Given the description of an element on the screen output the (x, y) to click on. 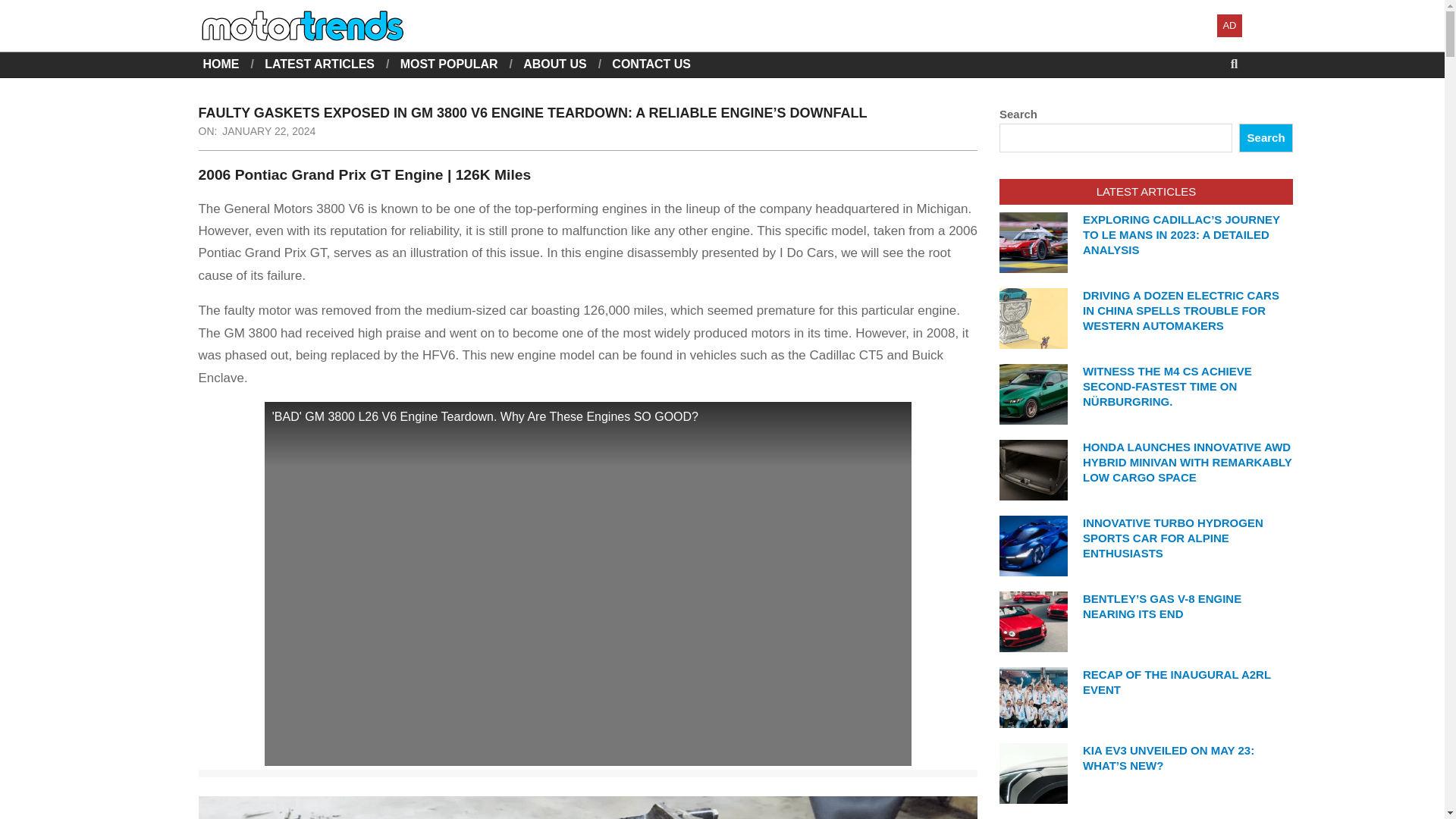
MOST POPULAR (448, 63)
Search (24, 9)
CONTACT US (650, 63)
ABOUT US (554, 63)
Monday, January 22, 2024, 8:21 am (268, 131)
HOME (221, 63)
LATEST ARTICLES (319, 63)
